Given the description of an element on the screen output the (x, y) to click on. 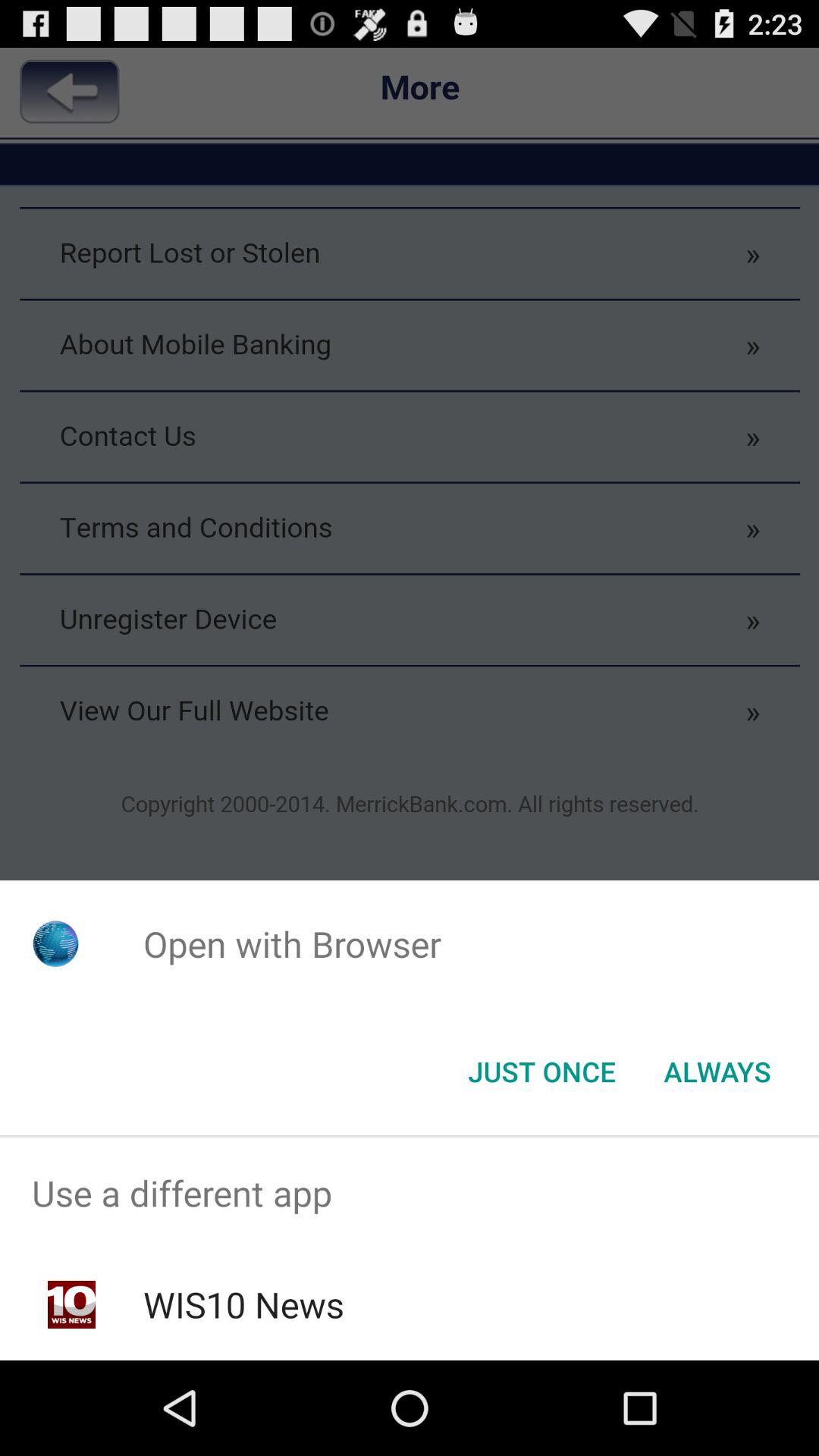
launch the item next to always (541, 1071)
